Given the description of an element on the screen output the (x, y) to click on. 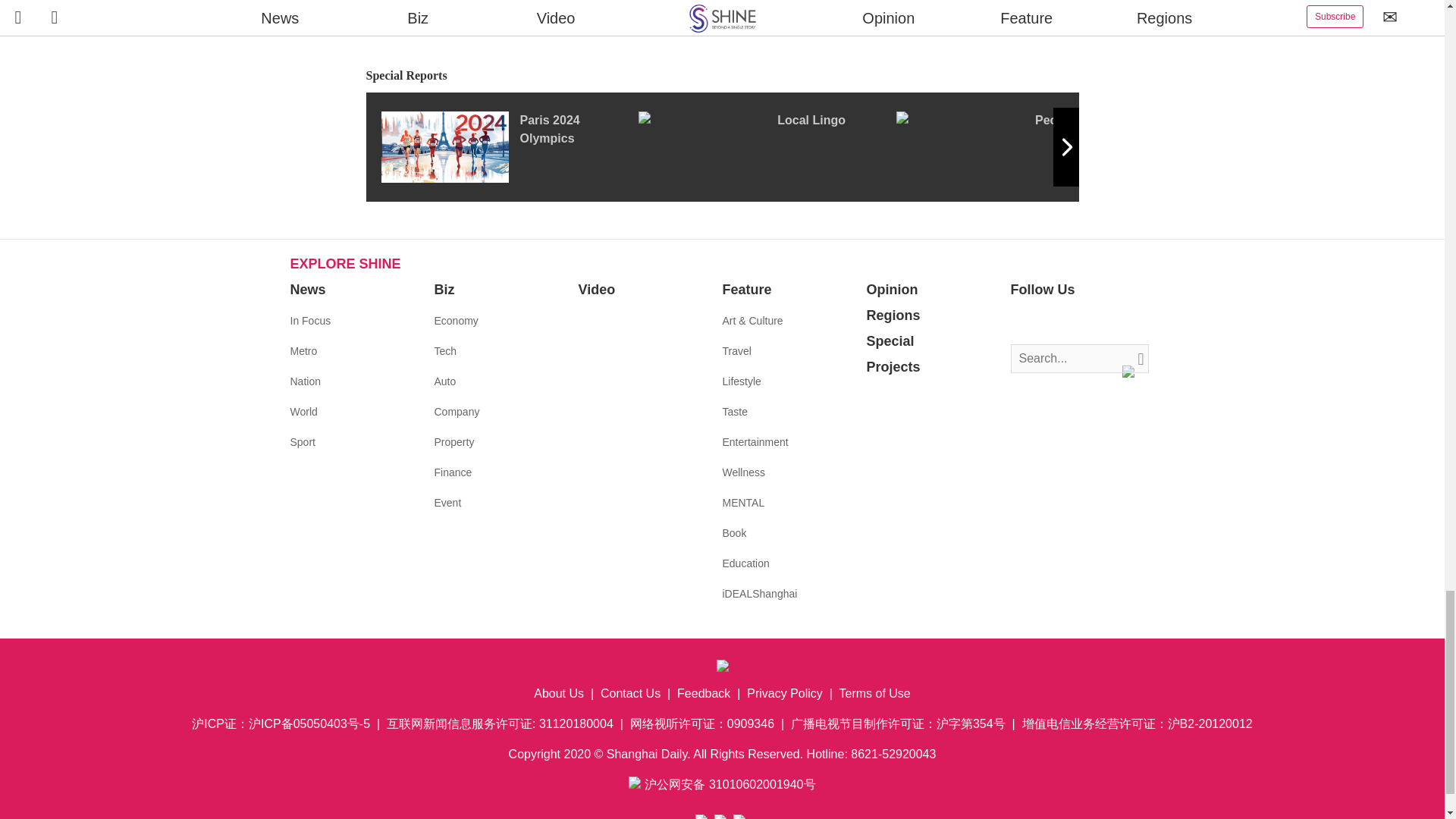
News (306, 289)
Local Lingo (767, 146)
Nation (304, 381)
Follow us on Twitter (1044, 321)
Follow us on Instagram (1067, 321)
Follow us on Facebook (1021, 321)
In Focus (309, 320)
People (1024, 146)
Paris 2024 Olympics (508, 146)
Follow us on Wechat (1112, 321)
